Given the description of an element on the screen output the (x, y) to click on. 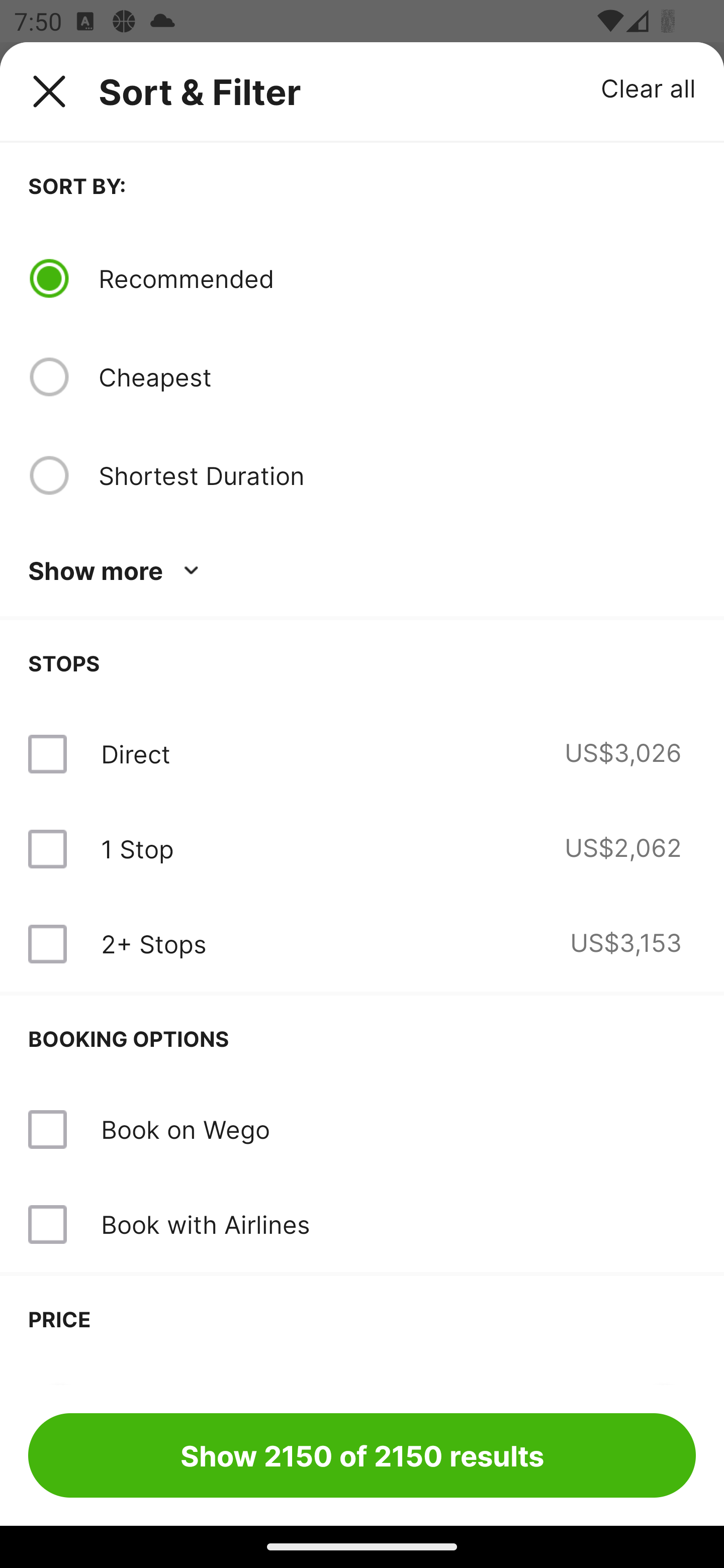
Clear all (648, 87)
Recommended  (396, 278)
Cheapest (396, 377)
Shortest Duration (396, 474)
Show more (116, 570)
Direct US$3,338 (362, 754)
Direct (135, 753)
1 Stop US$3,614 (362, 848)
1 Stop (136, 849)
Book on Wego (362, 1033)
Book on Wego (184, 1034)
Book with Airlines (362, 1129)
Book with Airlines (204, 1128)
Show 2150 of 2150 results (361, 1454)
